Given the description of an element on the screen output the (x, y) to click on. 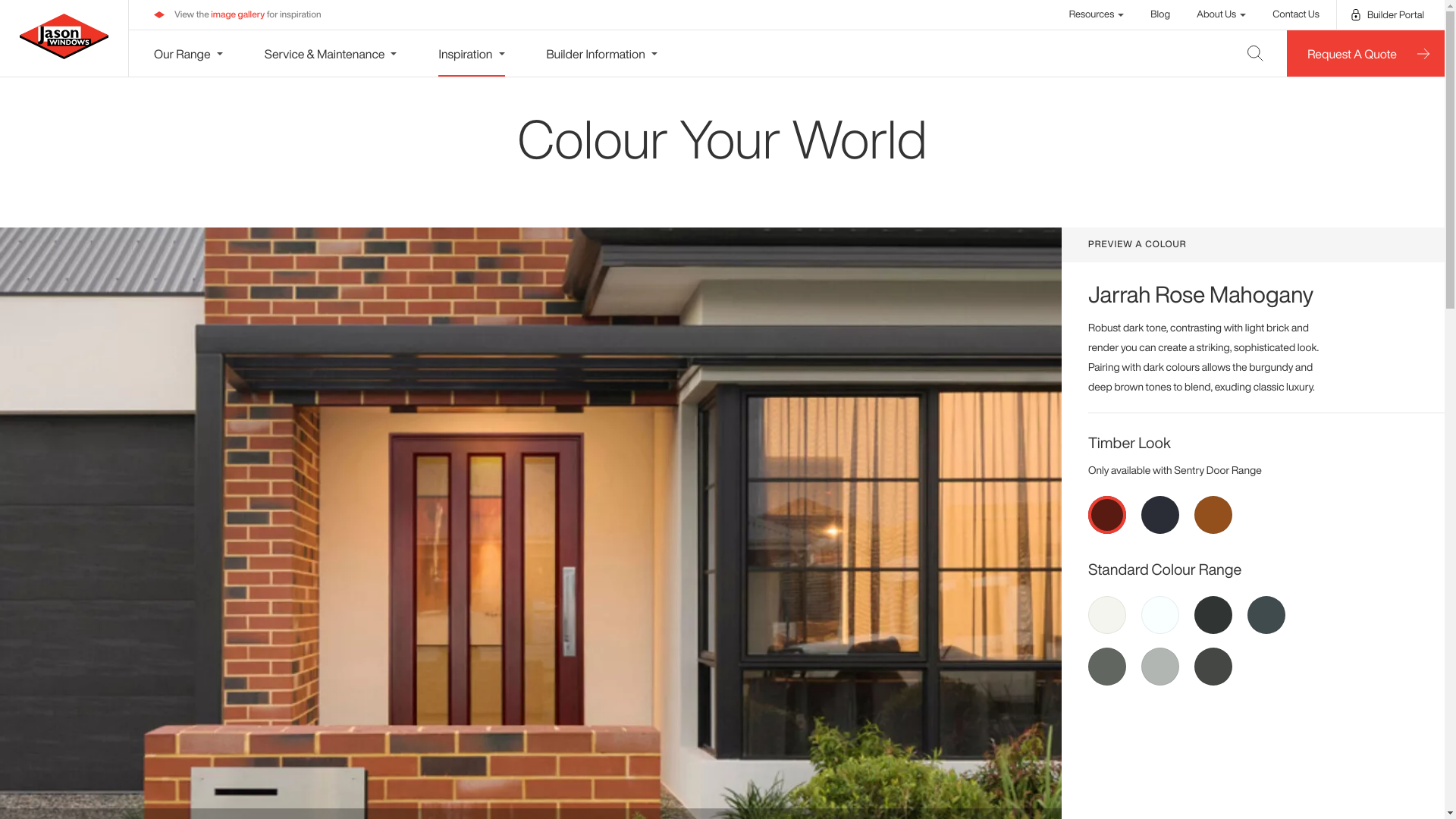
Charcoal Ebony Element type: text (1160, 514)
About Us Element type: text (1220, 13)
Our Range Element type: text (187, 53)
Service & Maintenance Element type: text (330, 53)
Anotec Dark Grey Element type: text (1266, 614)
Inspiration Element type: text (471, 53)
Jason Windows Homepage Element type: text (63, 36)
Blog Element type: text (1160, 13)
Jarrah Rose Mahogany Element type: text (1107, 514)
Western Red Cedar Element type: text (1213, 514)
Request A Quote Element type: text (1365, 53)
Silver Lustre Element type: text (1160, 666)
image gallery Element type: text (237, 14)
Pearl White Element type: text (1160, 614)
Contact Us Element type: text (1295, 13)
Builder Portal Element type: text (1387, 14)
White Lustre Element type: text (1107, 614)
Charcoal Lustre Element type: text (1213, 666)
Expand search bar Element type: text (1255, 53)
Night Sky Element type: text (1213, 614)
Builder Information Element type: text (601, 53)
Skip to Content Element type: text (6, 6)
Storm Front Element type: text (1107, 666)
Resources Element type: text (1096, 13)
